Given the description of an element on the screen output the (x, y) to click on. 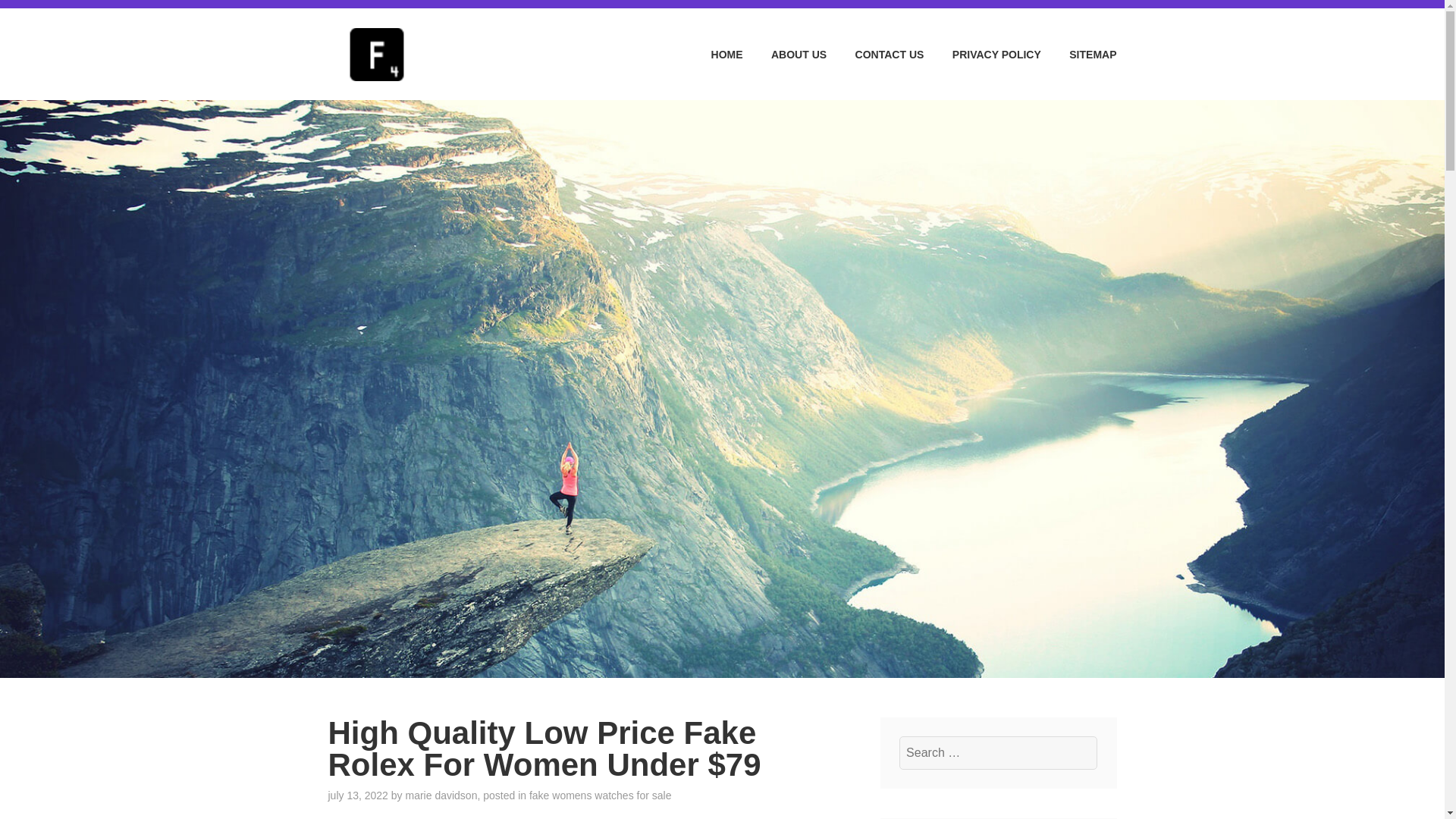
PRIVACY POLICY (983, 54)
SITEMAP (1079, 54)
HOME (713, 54)
fake womens watches for sale (600, 795)
CONTACT US (876, 54)
Search (48, 17)
marie davidson (440, 795)
ABOUT US (786, 54)
july 13, 2022 (357, 795)
